Given the description of an element on the screen output the (x, y) to click on. 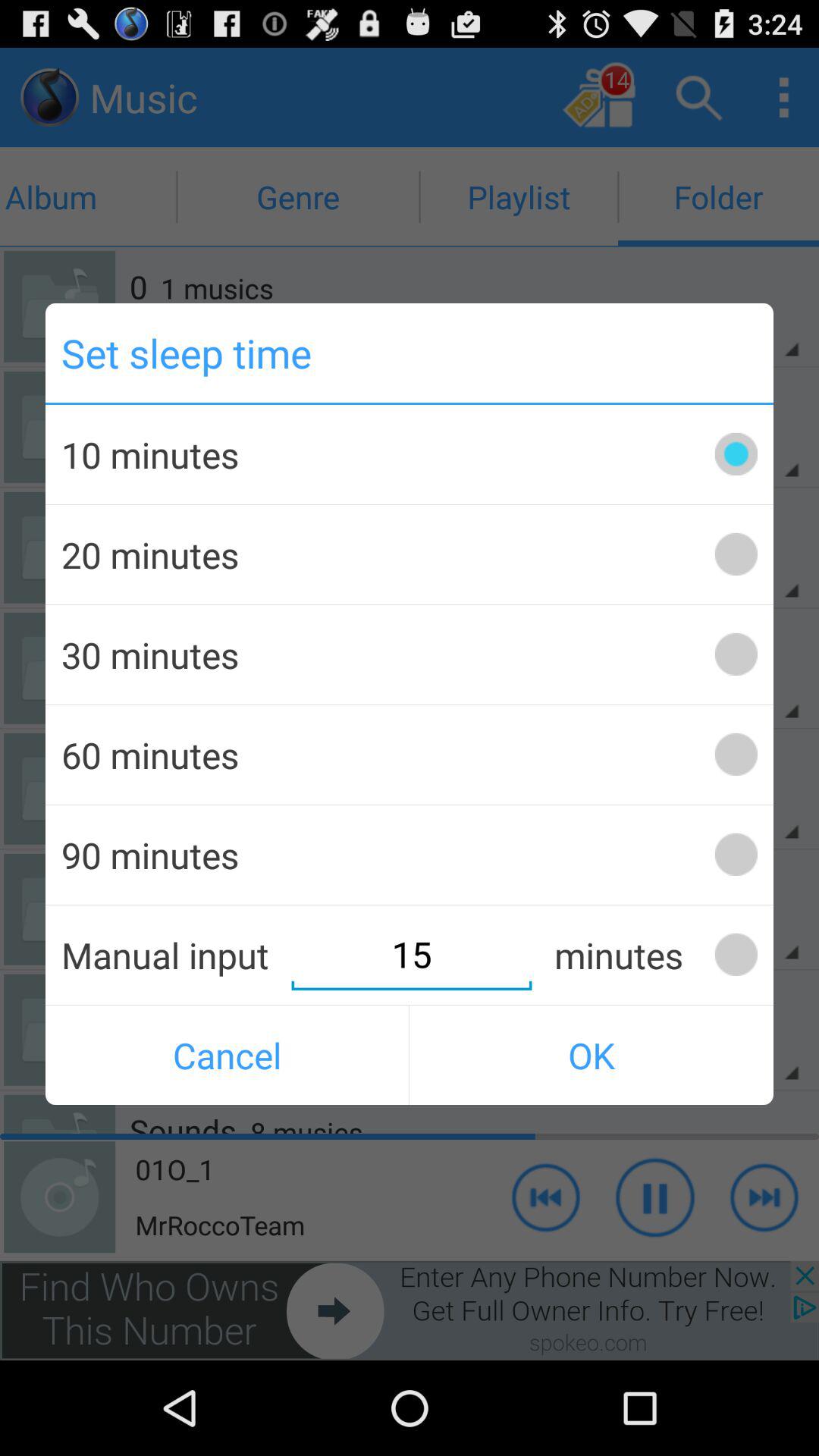
enter the minutes box (735, 954)
